Given the description of an element on the screen output the (x, y) to click on. 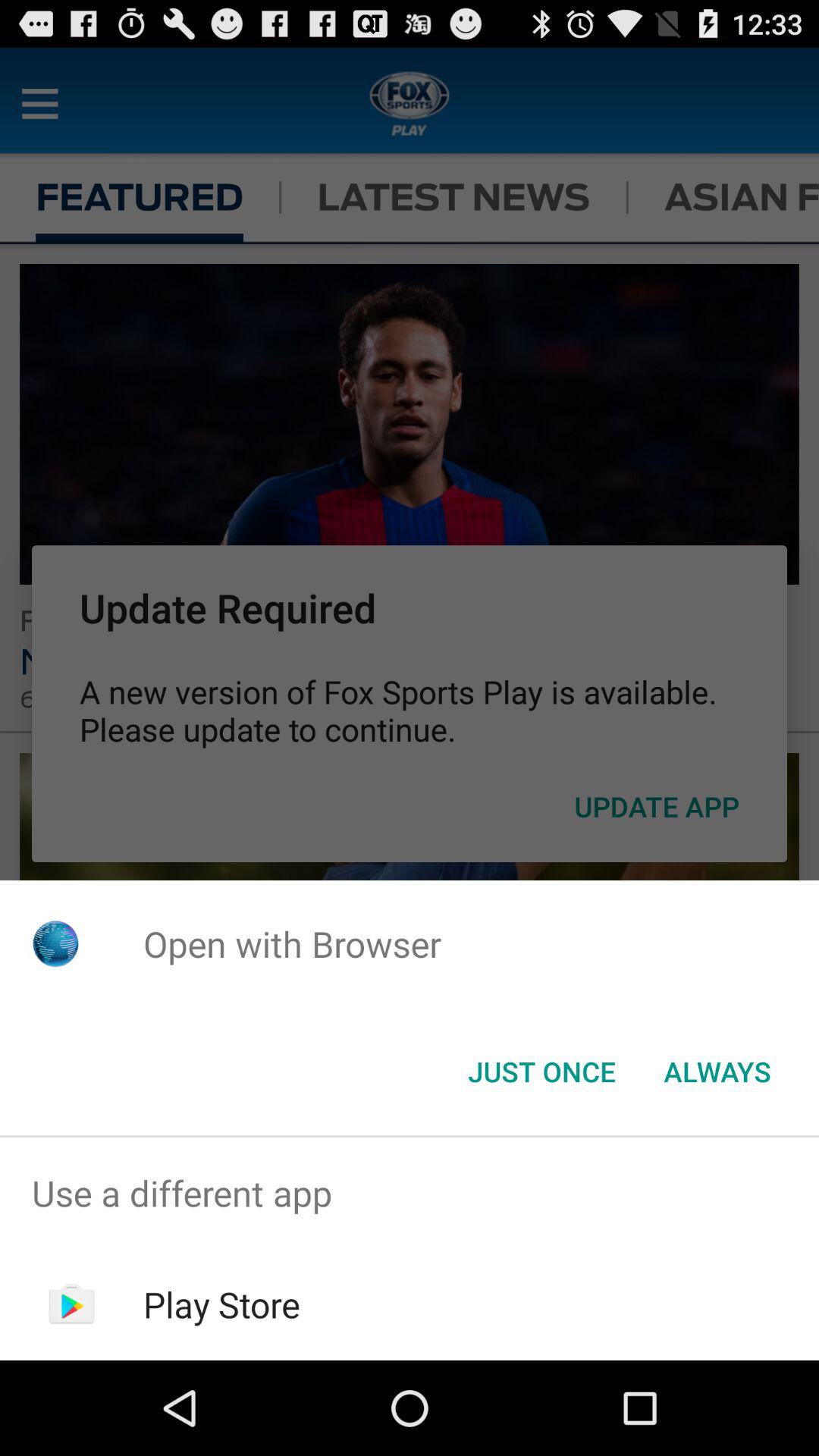
launch icon to the right of just once (717, 1071)
